Given the description of an element on the screen output the (x, y) to click on. 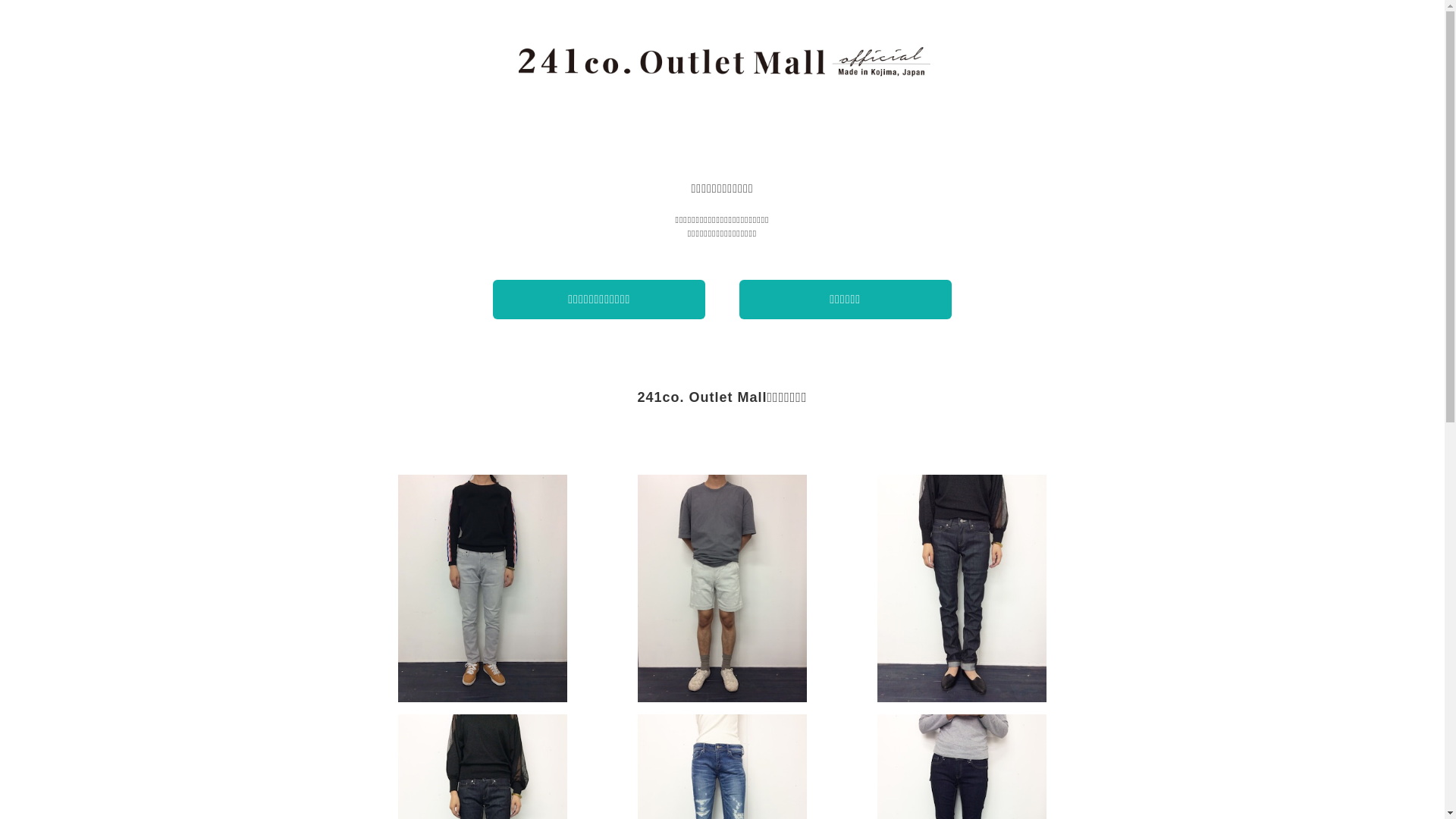
241co. Outlet Mall Element type: hover (722, 60)
